Given the description of an element on the screen output the (x, y) to click on. 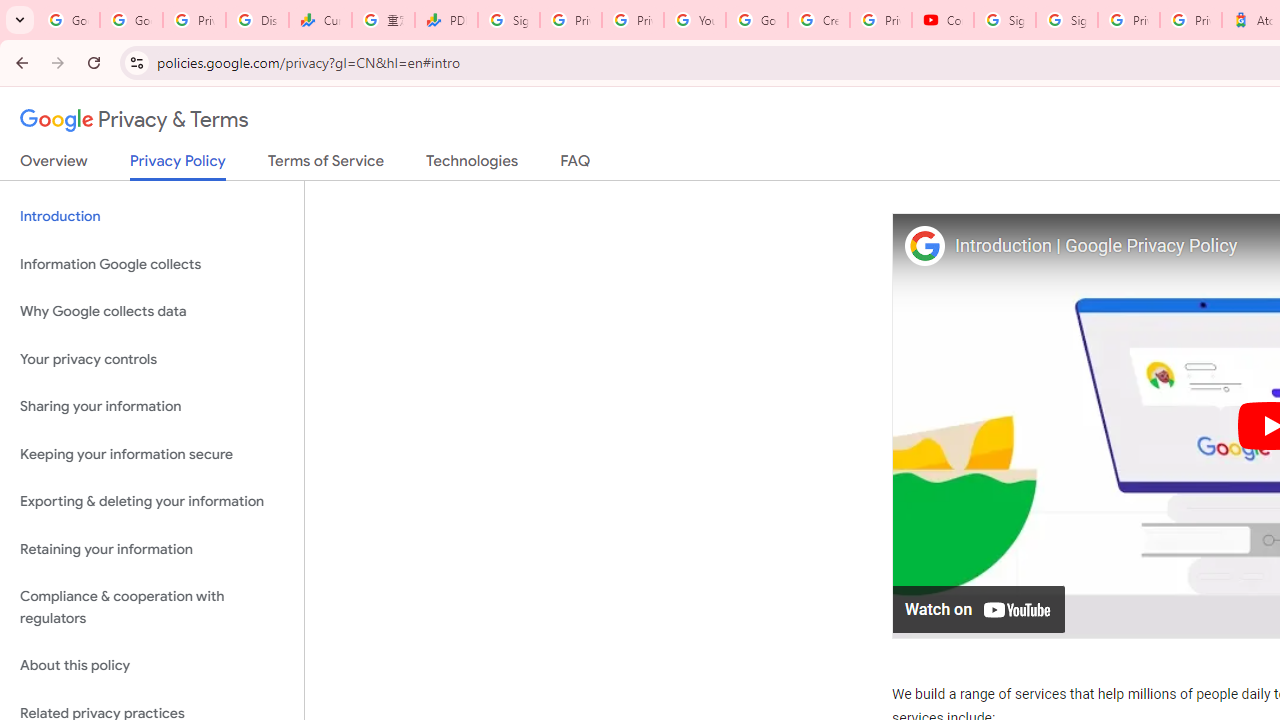
Currencies - Google Finance (320, 20)
Sign in - Google Accounts (1004, 20)
Sign in - Google Accounts (1066, 20)
Sign in - Google Accounts (508, 20)
Compliance & cooperation with regulators (152, 607)
Keeping your information secure (152, 453)
Introduction (152, 216)
Your privacy controls (152, 358)
Retaining your information (152, 548)
Google Account Help (756, 20)
Create your Google Account (818, 20)
Photo image of Google (924, 244)
